Given the description of an element on the screen output the (x, y) to click on. 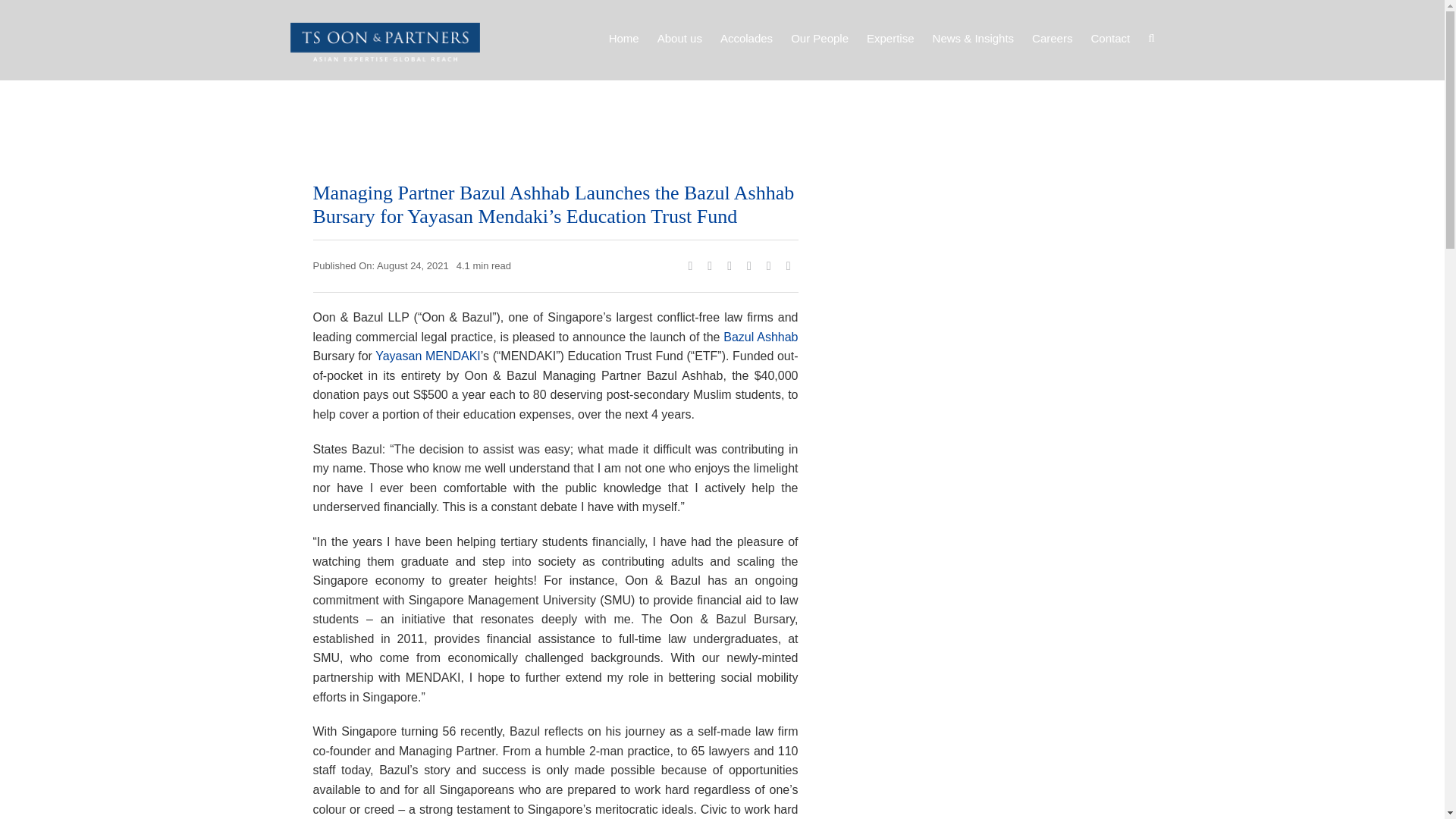
WhatsApp (748, 266)
Email (787, 266)
Careers (1051, 37)
Contact (1109, 37)
Expertise (890, 37)
Facebook (689, 266)
About us (679, 37)
Home (623, 37)
LinkedIn (729, 266)
X (709, 266)
